Given the description of an element on the screen output the (x, y) to click on. 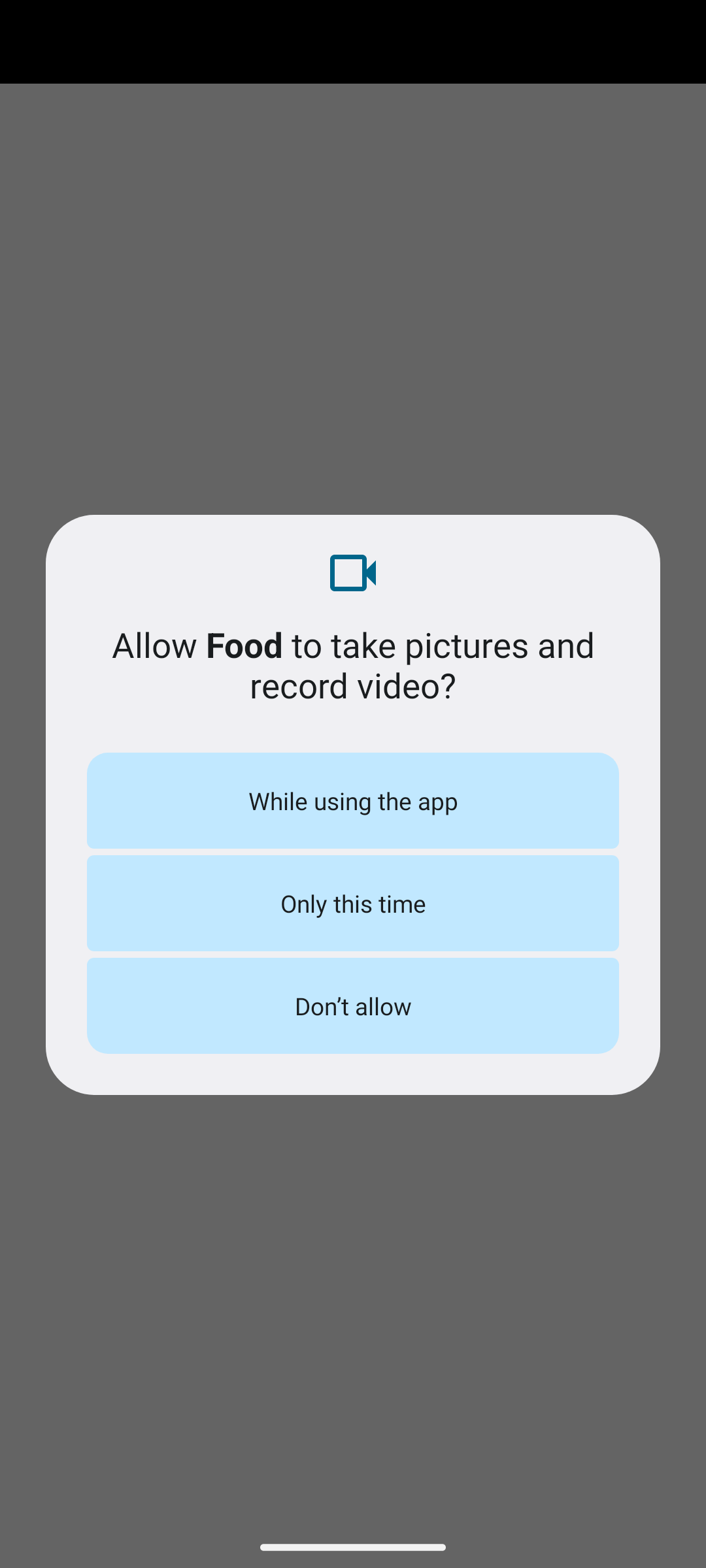
While using the app (352, 800)
Only this time (352, 902)
Don’t allow (352, 1005)
